Given the description of an element on the screen output the (x, y) to click on. 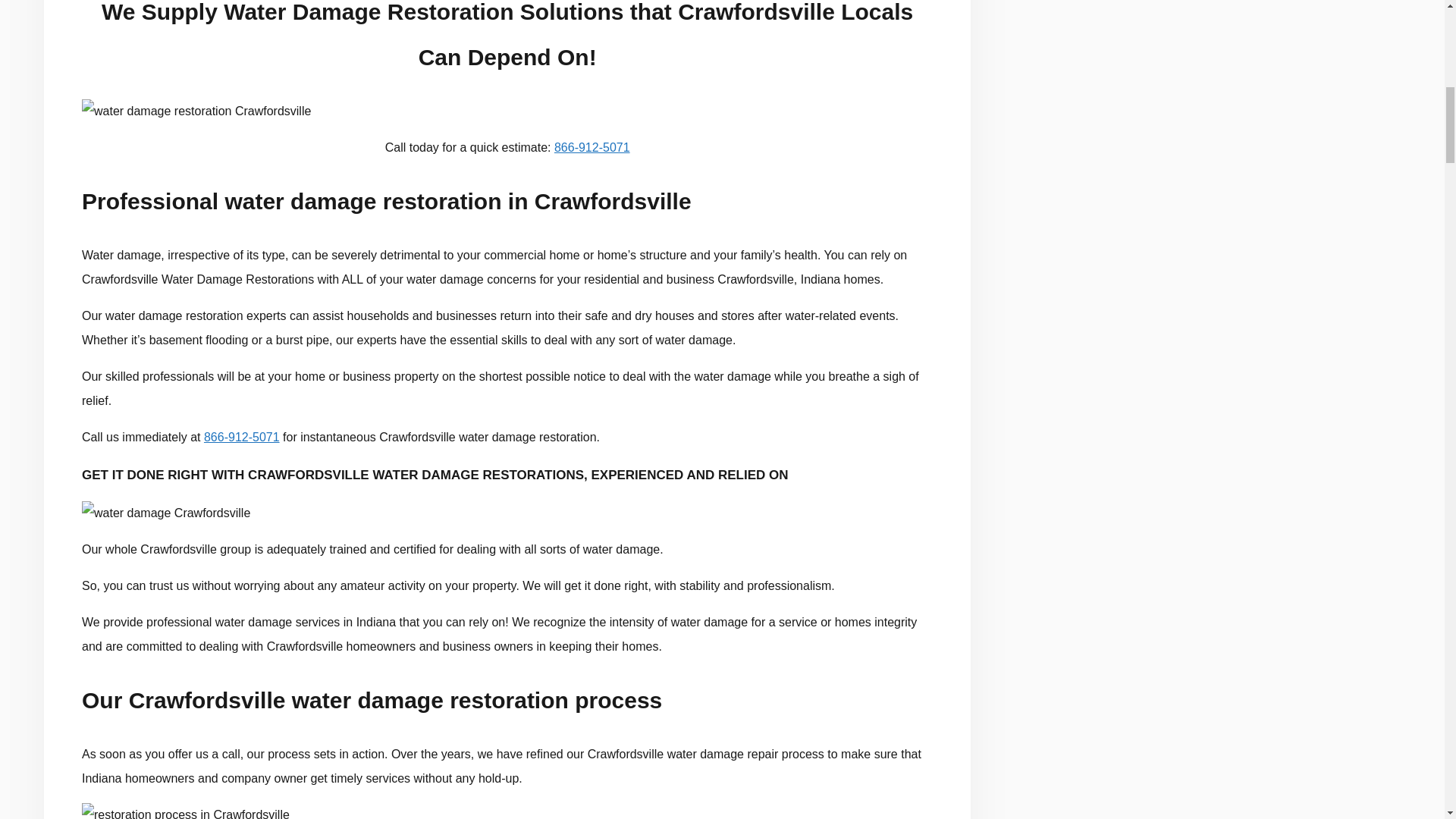
866-912-5071 (241, 436)
866-912-5071 (592, 146)
